Given the description of an element on the screen output the (x, y) to click on. 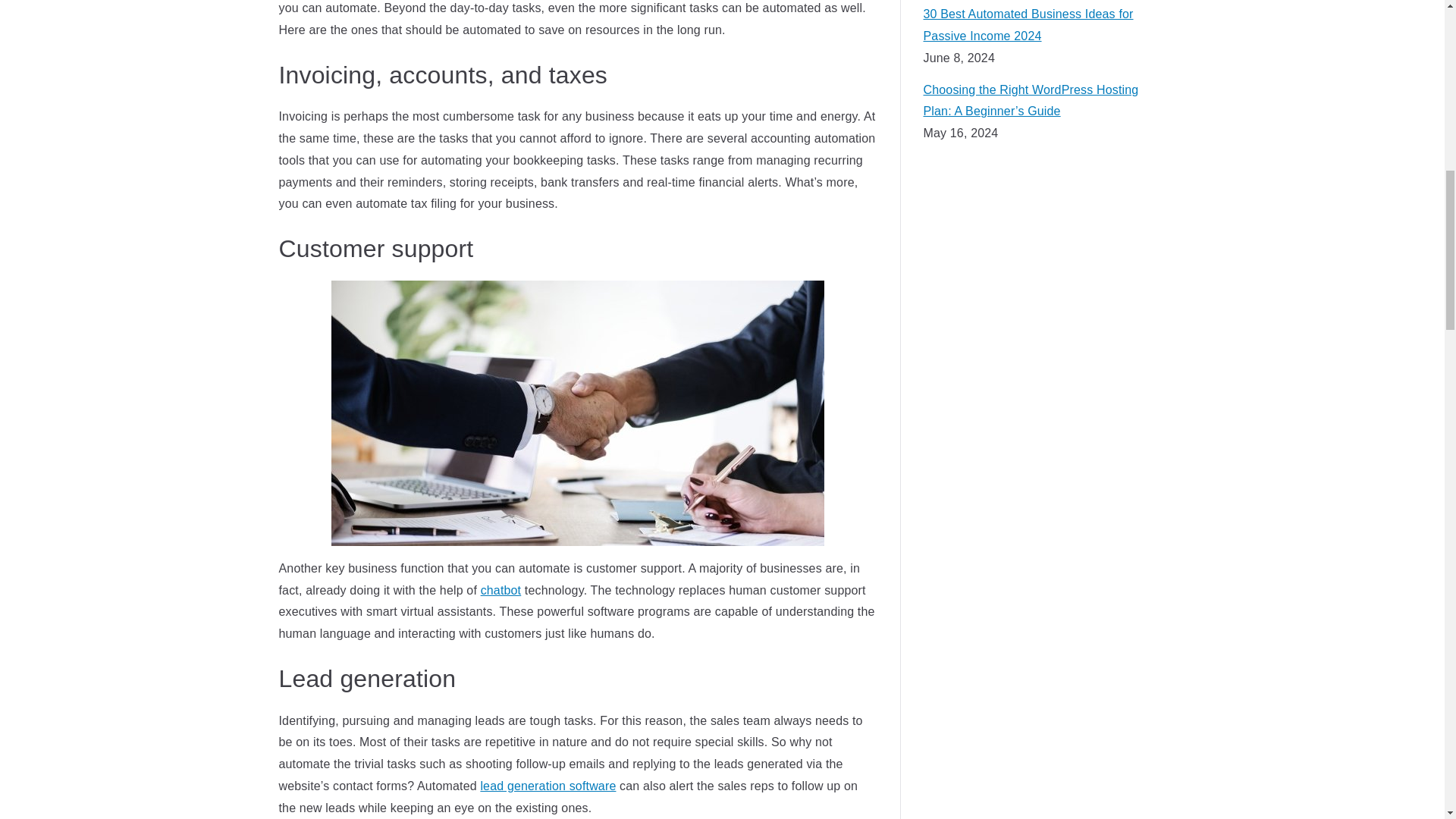
chatbot (500, 590)
